Given the description of an element on the screen output the (x, y) to click on. 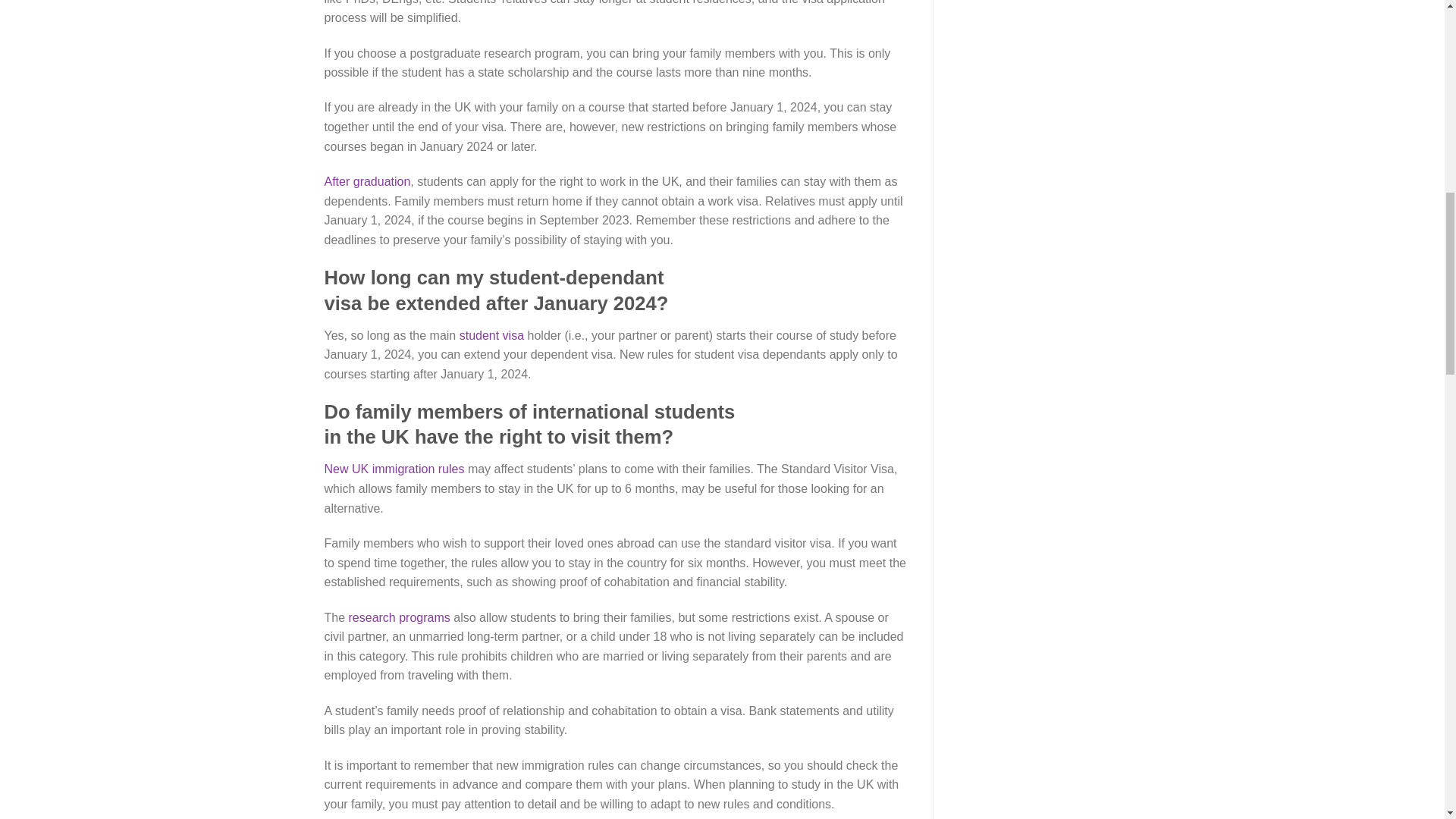
New UK immigration rules (394, 468)
After graduation (367, 181)
student visa (492, 335)
research programs (399, 617)
